Given the description of an element on the screen output the (x, y) to click on. 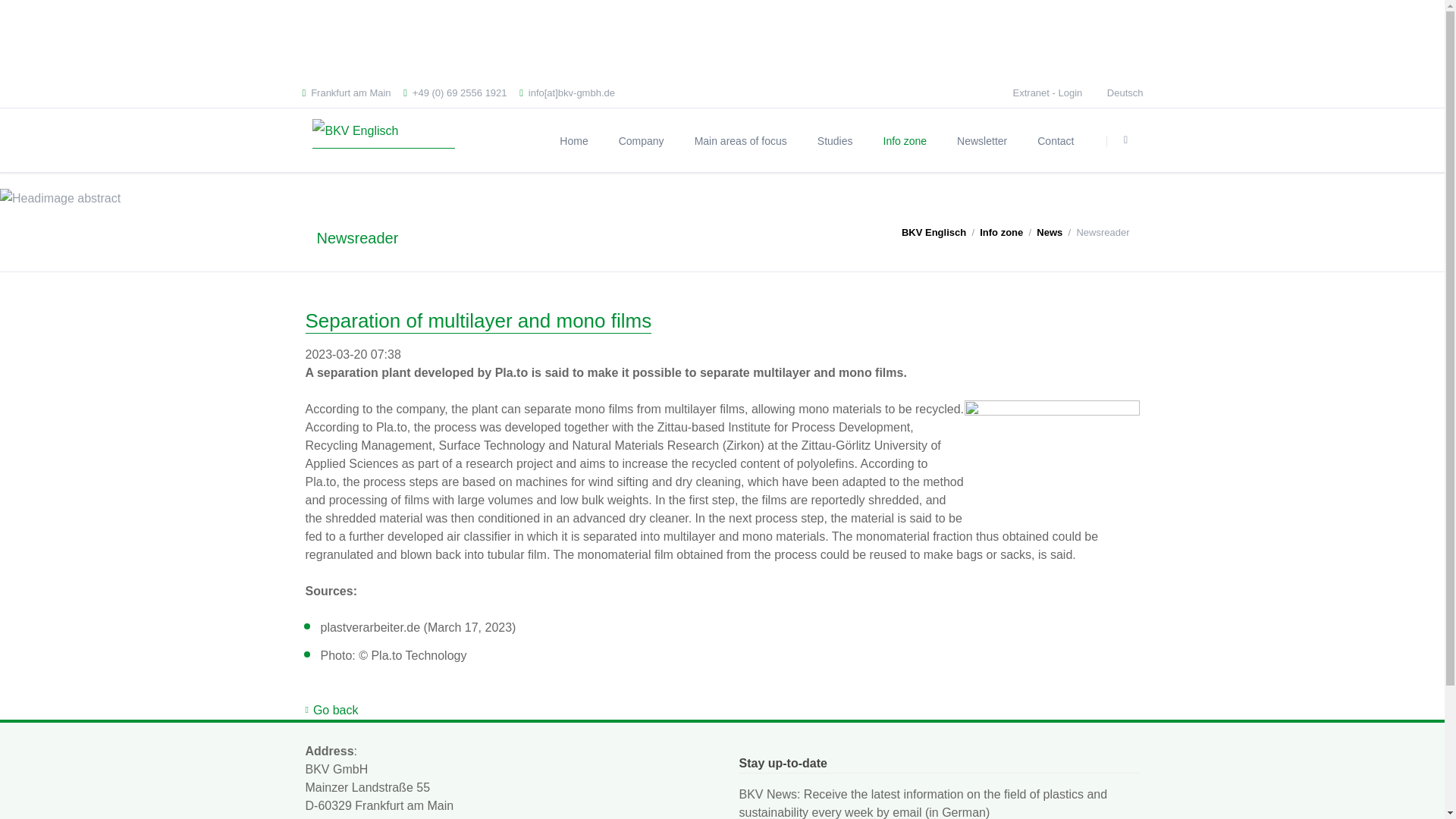
Suchen (1125, 141)
Info zone (904, 139)
Main areas of focus (740, 139)
Home (573, 139)
Newsletter (982, 139)
Extranet - Login (1048, 92)
Studies (834, 139)
Info zone (904, 139)
Company (641, 139)
